Given the description of an element on the screen output the (x, y) to click on. 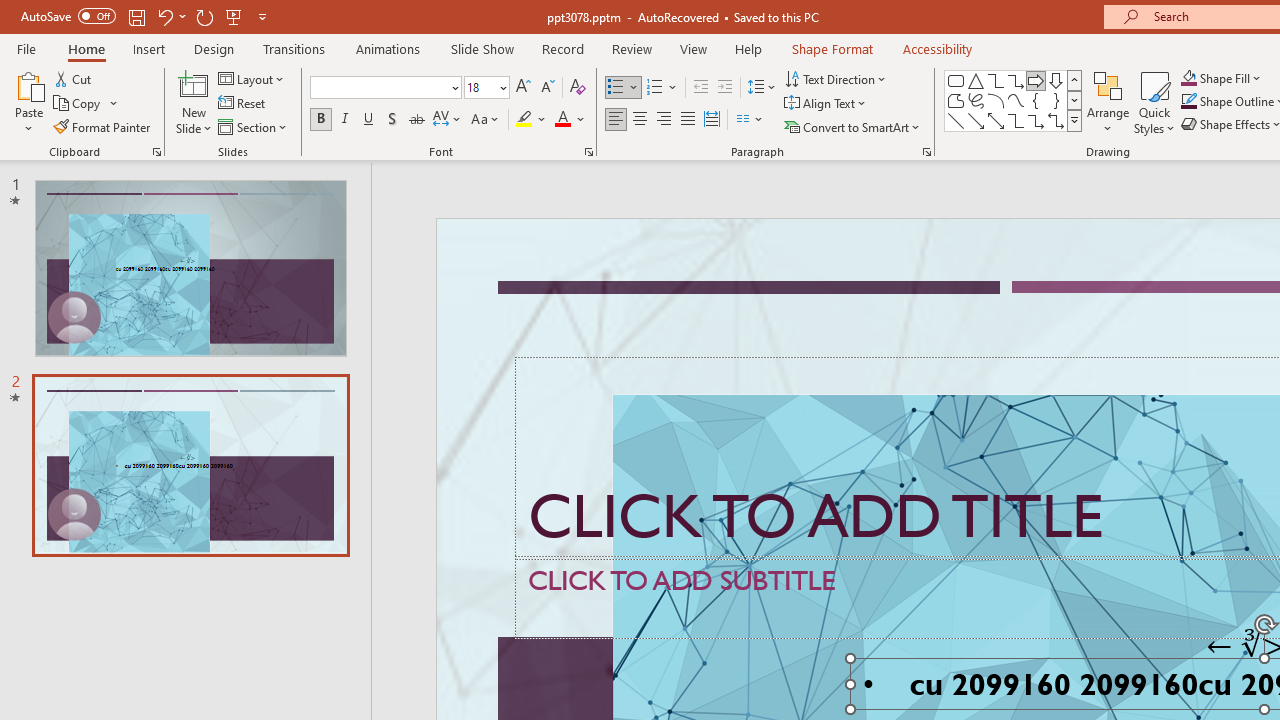
Connector: Elbow Double-Arrow (1055, 120)
